Given the description of an element on the screen output the (x, y) to click on. 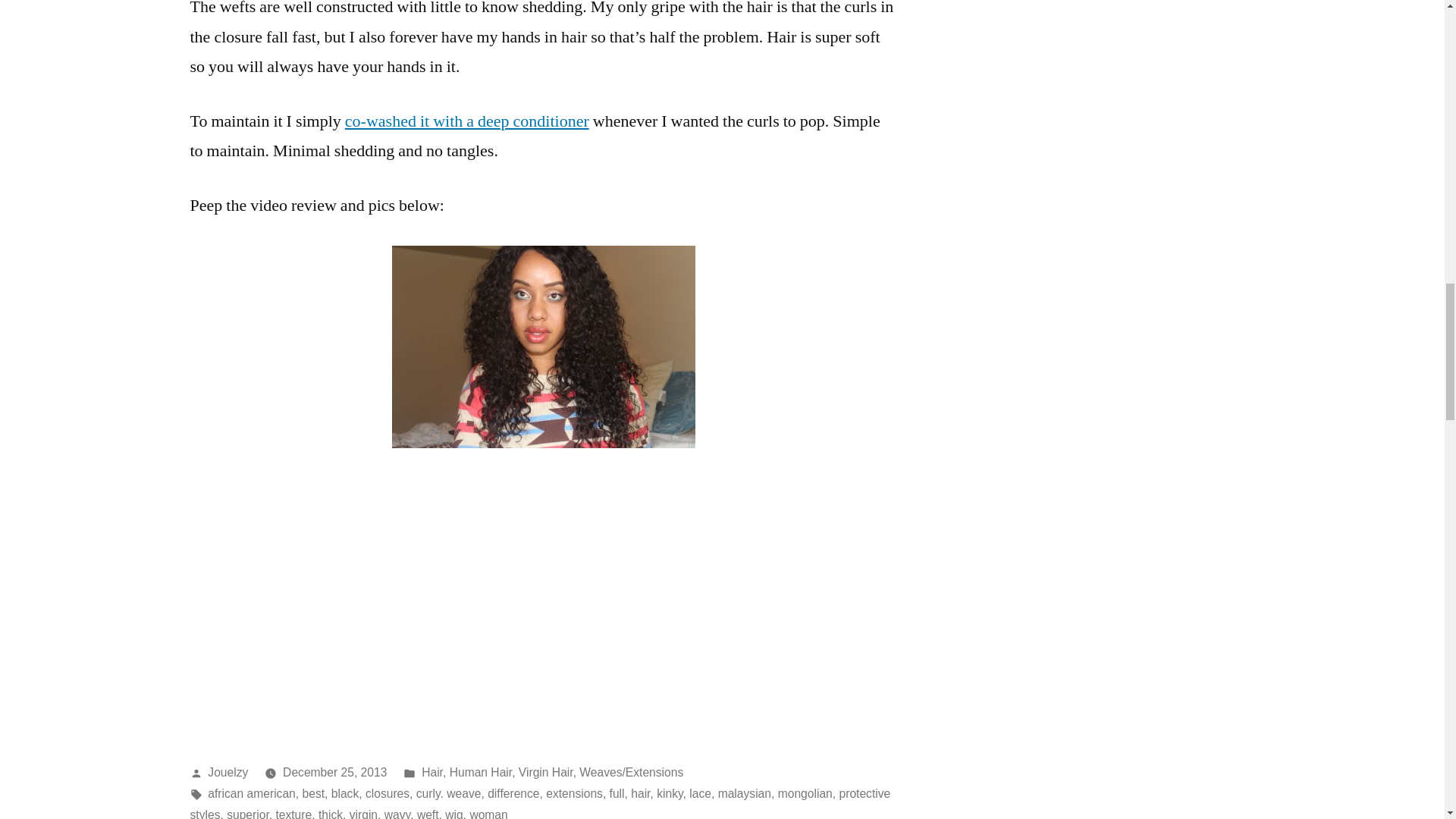
hair (639, 793)
December 25, 2013 (334, 771)
co-washed it with a deep conditioner (467, 120)
Jouelzy (227, 771)
extensions (574, 793)
full (617, 793)
curly. weave (448, 793)
Virgin Hair (545, 771)
Human Hair (480, 771)
closures (387, 793)
best (313, 793)
black (344, 793)
Hair (432, 771)
african american (251, 793)
difference (512, 793)
